Given the description of an element on the screen output the (x, y) to click on. 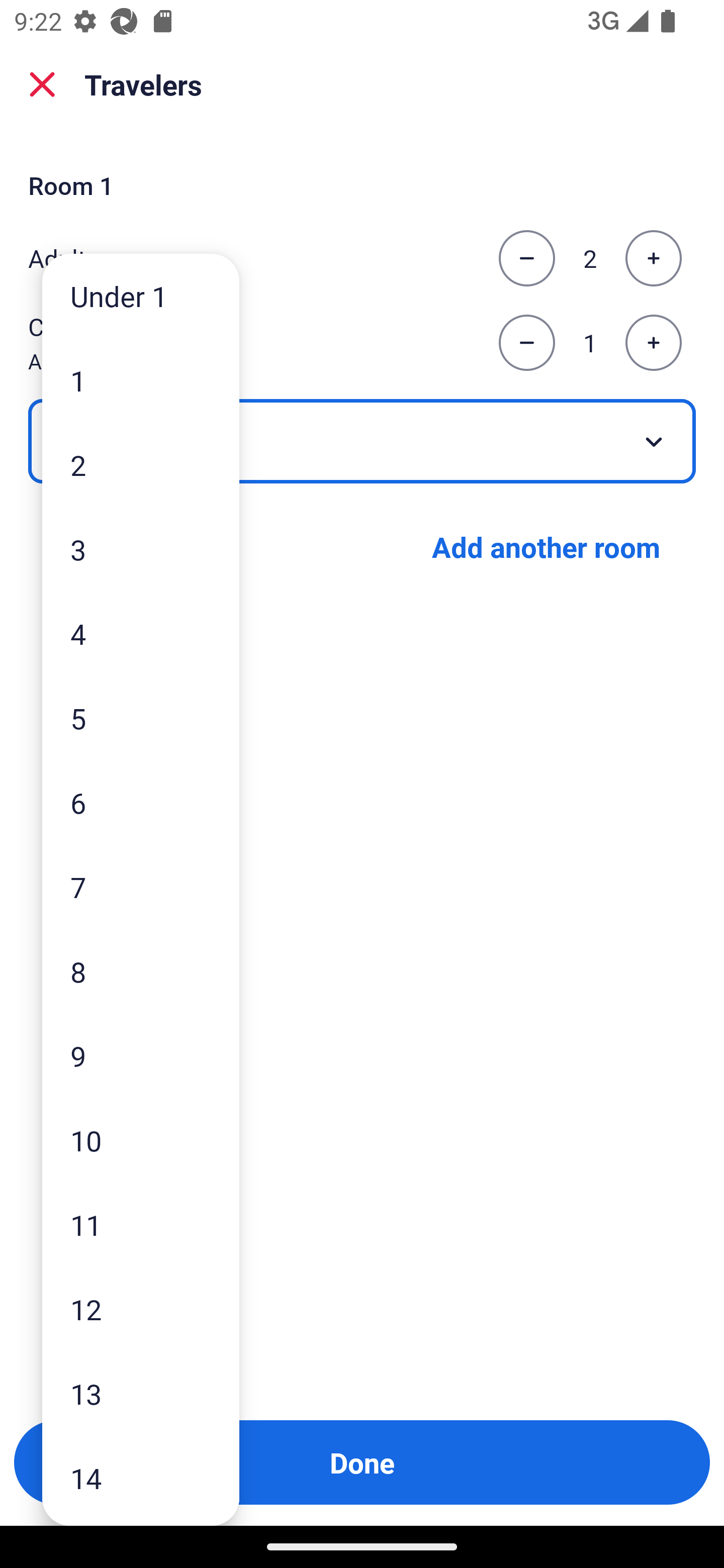
Under 1 (140, 296)
1 (140, 380)
2 (140, 464)
3 (140, 548)
4 (140, 633)
5 (140, 717)
6 (140, 802)
7 (140, 887)
8 (140, 970)
9 (140, 1054)
10 (140, 1139)
11 (140, 1224)
12 (140, 1308)
13 (140, 1393)
14 (140, 1478)
